Given the description of an element on the screen output the (x, y) to click on. 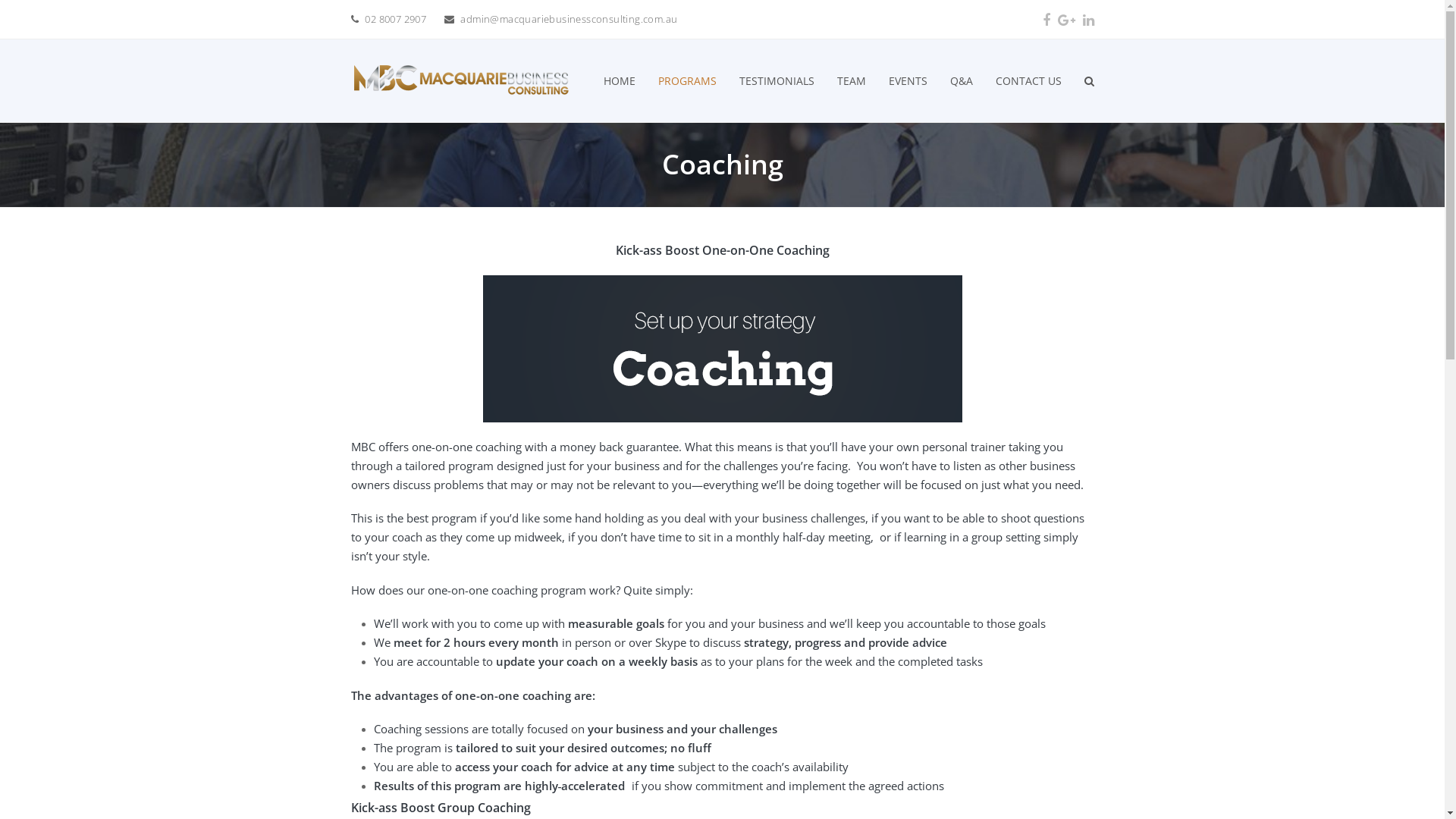
PROGRAMS Element type: text (686, 81)
TESTIMONIALS Element type: text (776, 81)
Macquarie Business Consulting Element type: hover (460, 79)
Google Plus Profile Element type: text (1065, 19)
EVENTS Element type: text (907, 81)
TEAM Element type: text (850, 81)
Facebook Profile Element type: text (1045, 19)
HOME Element type: text (618, 81)
LinkedIn Profile Element type: text (1088, 19)
Q&A Element type: text (961, 81)
CONTACT US Element type: text (1028, 81)
